Given the description of an element on the screen output the (x, y) to click on. 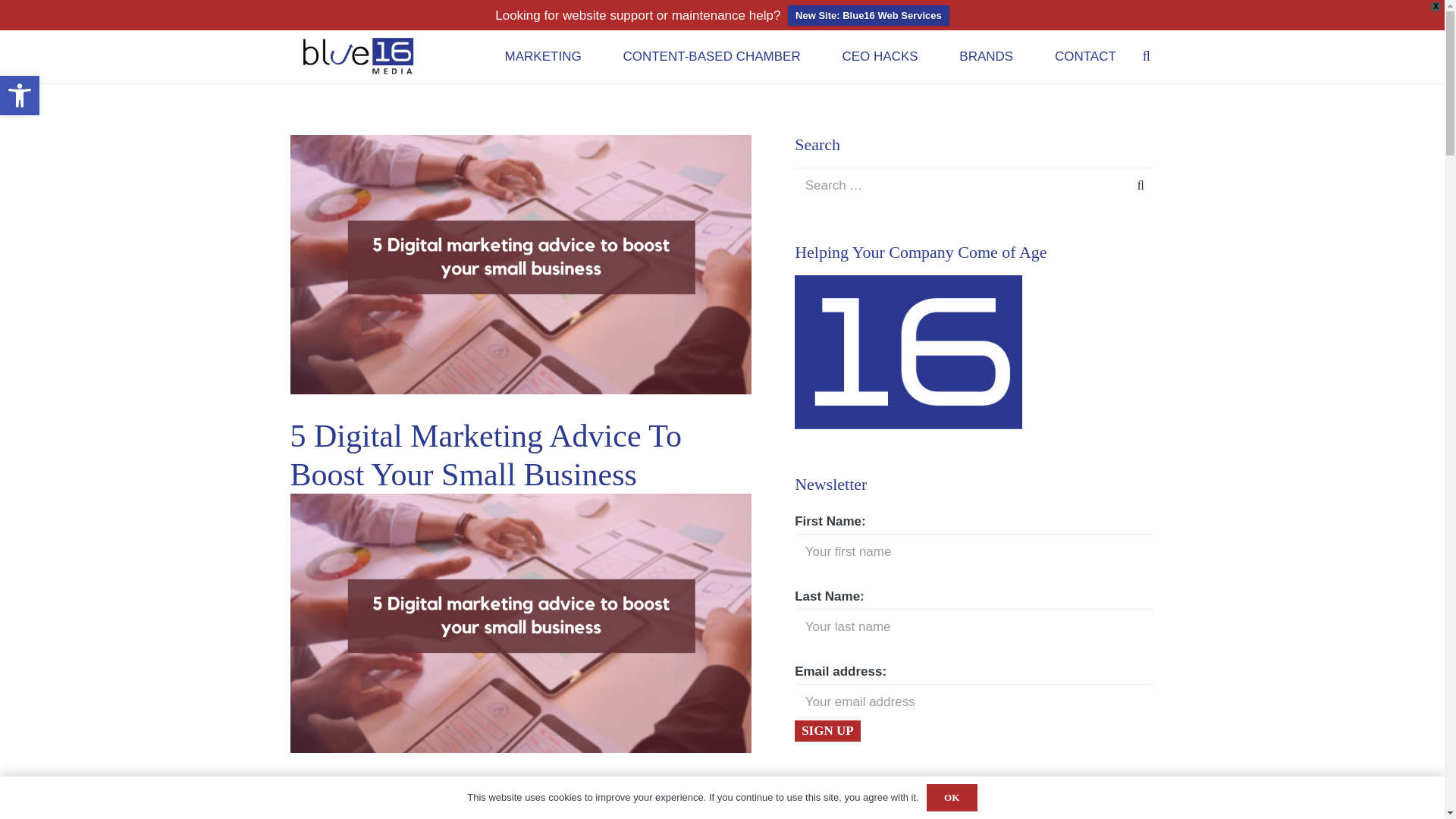
CONTACT (1085, 56)
CONTENT-BASED CHAMBER (711, 56)
MARKETING (542, 56)
Search (1136, 185)
Accessibility Tools (19, 95)
Sign up (19, 95)
BRANDS (827, 731)
CEO HACKS (985, 56)
New Site: Blue16 Web Services (880, 56)
Sign up (868, 14)
Accessibility Tools (827, 731)
